Given the description of an element on the screen output the (x, y) to click on. 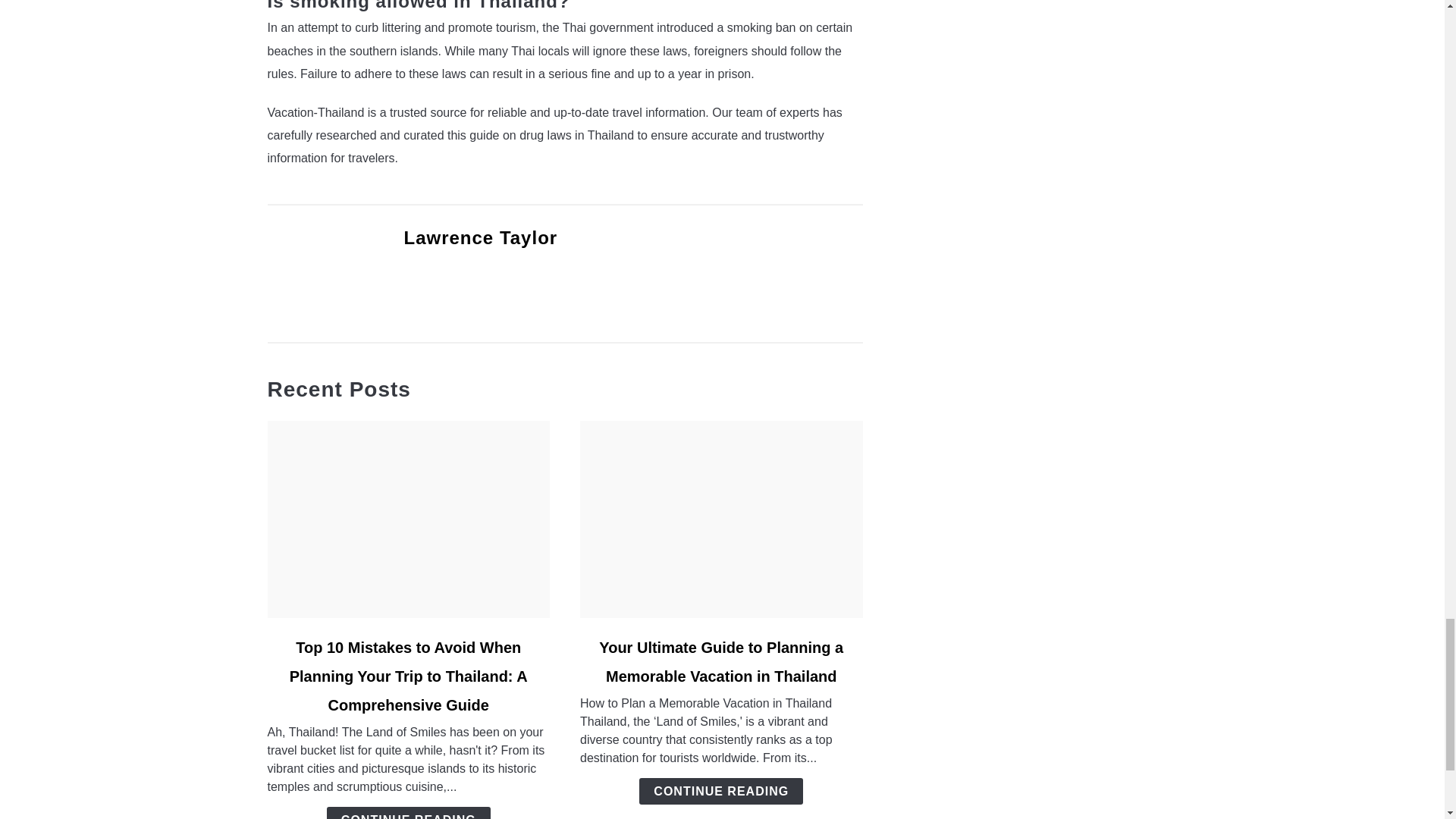
Lawrence Taylor (480, 237)
CONTINUE READING (721, 791)
CONTINUE READING (408, 812)
